Given the description of an element on the screen output the (x, y) to click on. 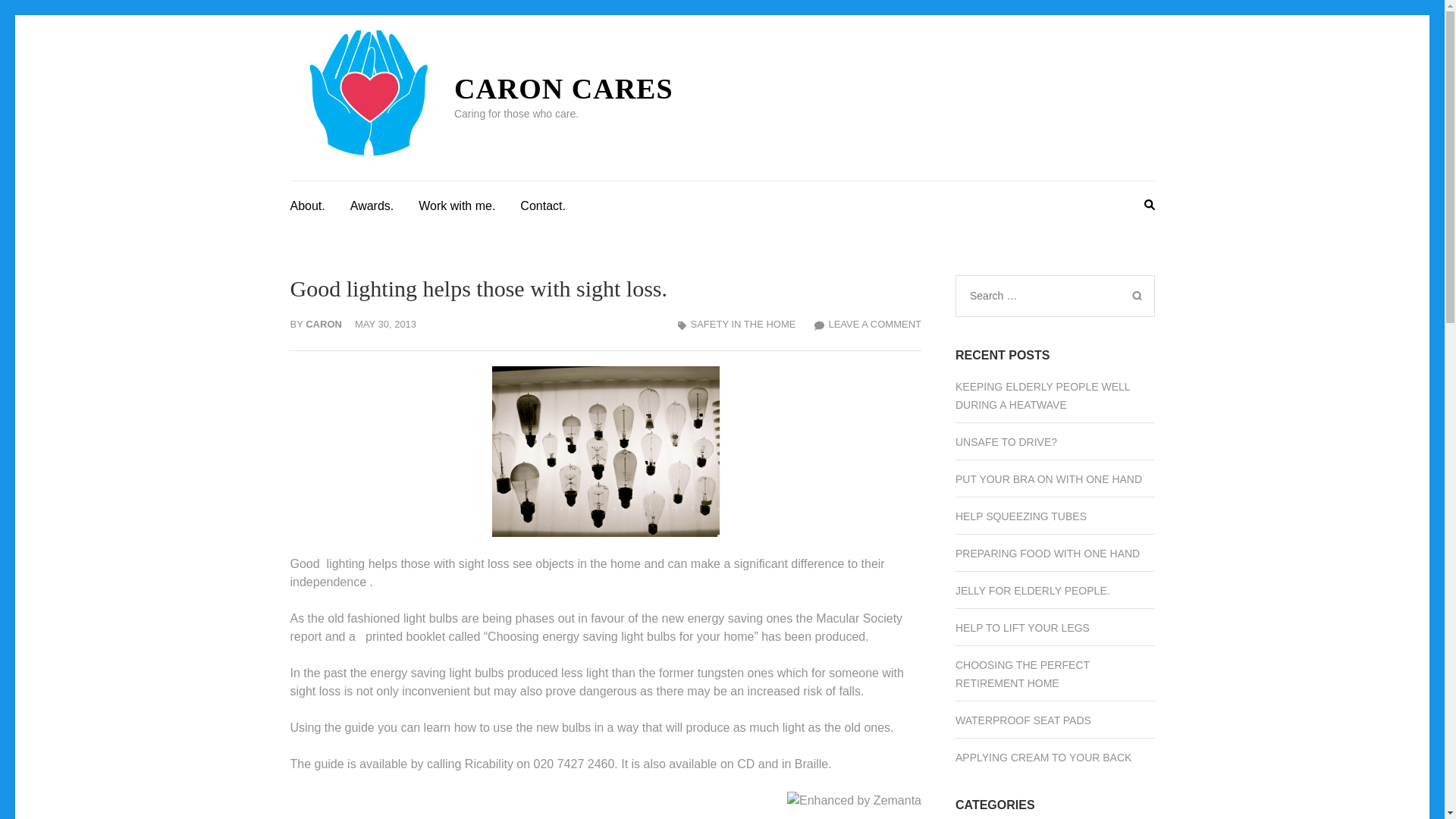
CARON (323, 324)
Save (857, 818)
Search (1136, 296)
Awards. (372, 203)
Work with me. (457, 203)
Contact. (542, 203)
CARON CARES (563, 88)
Search (1136, 296)
